Given the description of an element on the screen output the (x, y) to click on. 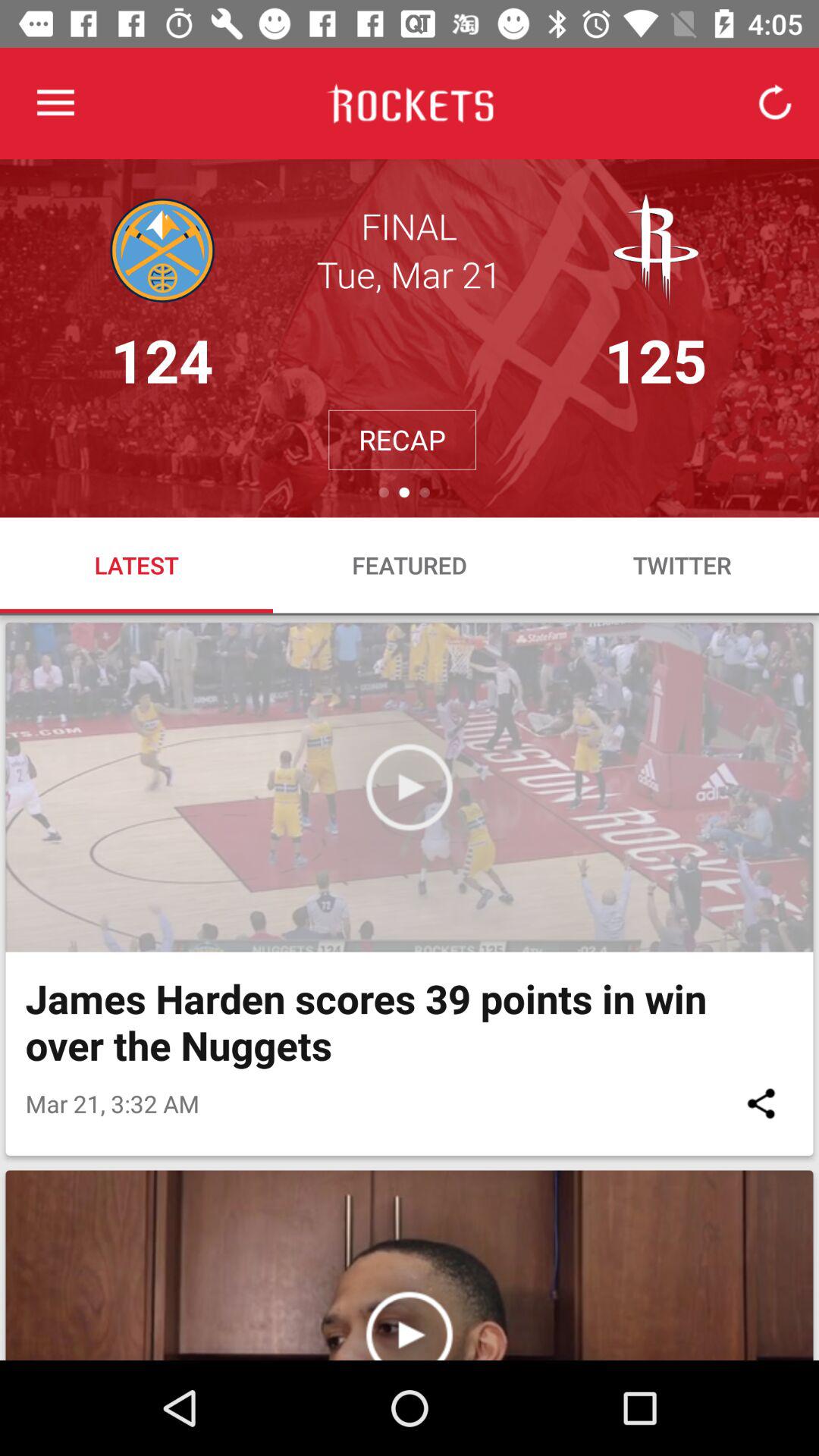
press the item at the bottom right corner (761, 1103)
